Given the description of an element on the screen output the (x, y) to click on. 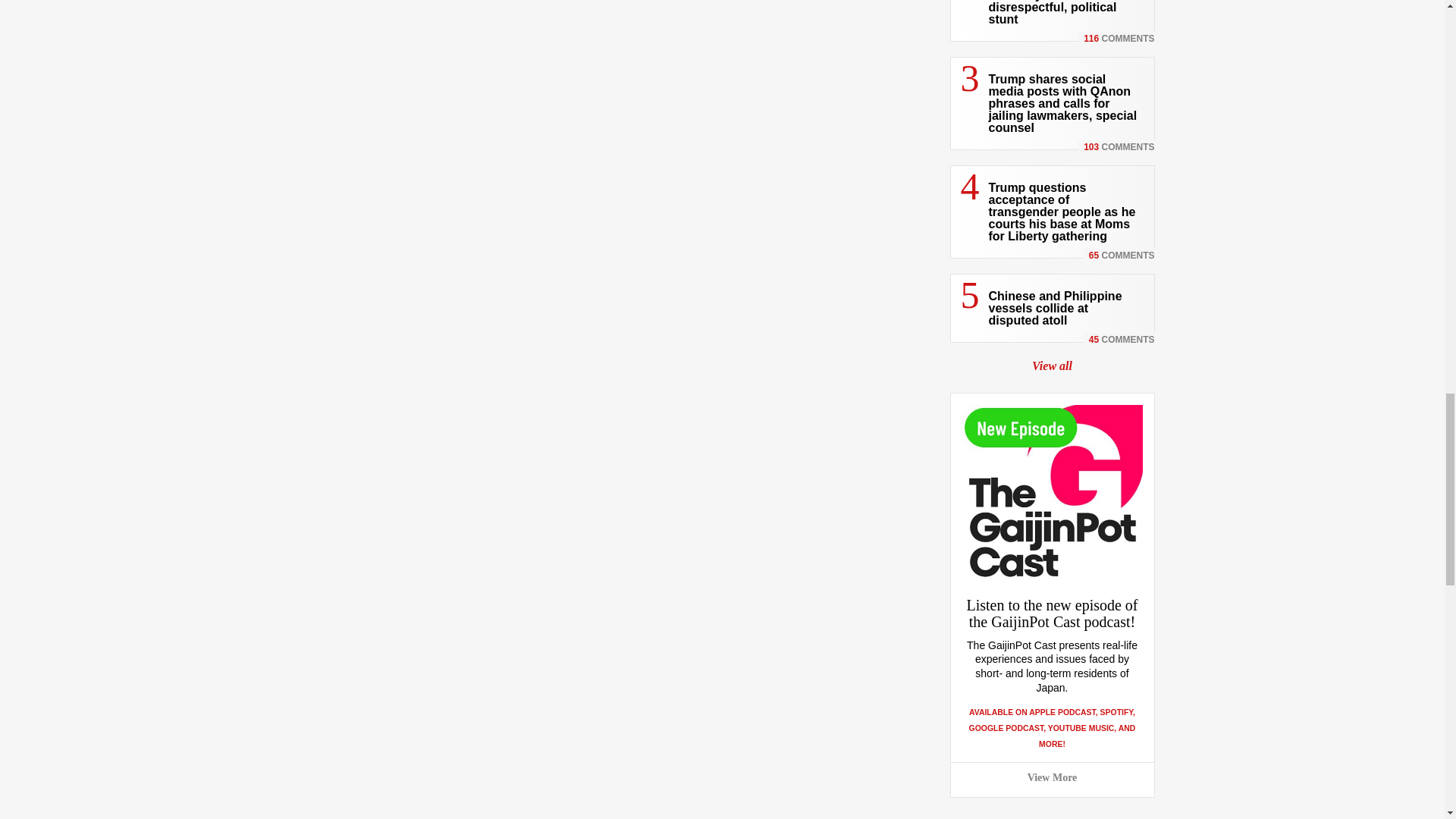
Chinese and Philippine vessels collide at disputed atoll (1055, 307)
